Given the description of an element on the screen output the (x, y) to click on. 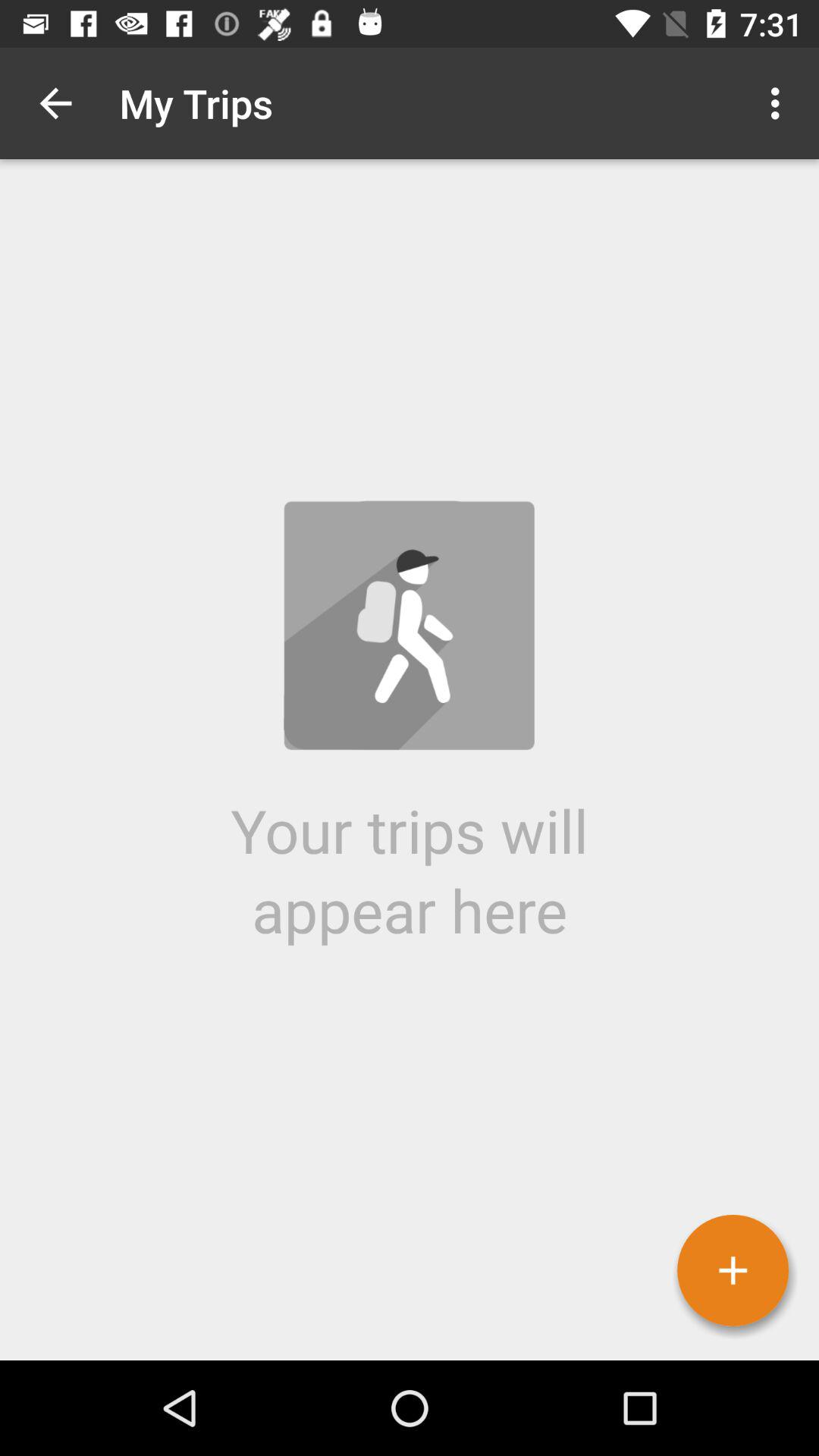
click the icon above your trips will icon (779, 103)
